Given the description of an element on the screen output the (x, y) to click on. 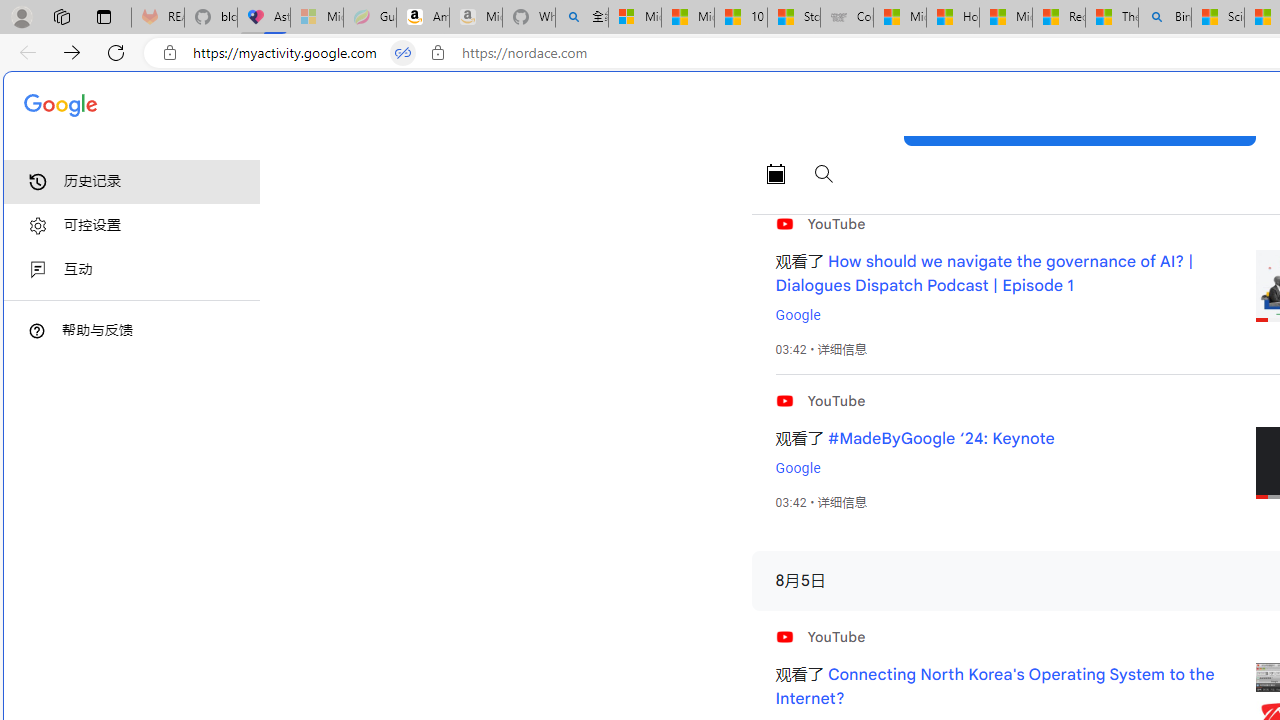
Recipes - MSN (1059, 17)
Bing (1165, 17)
Class: i2GIId (38, 269)
Google (797, 468)
Microsoft account | Privacy (634, 17)
